Given the description of an element on the screen output the (x, y) to click on. 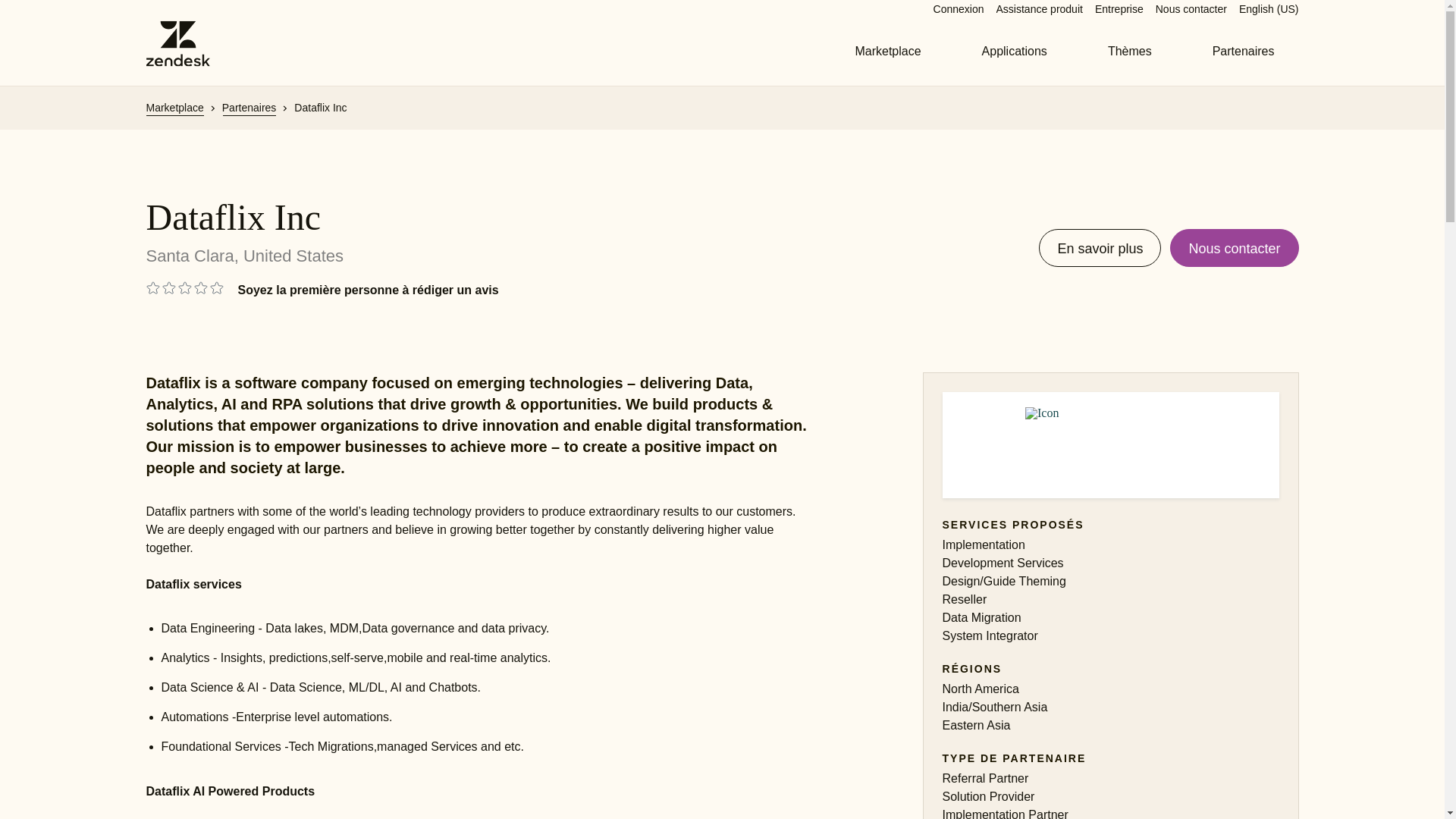
Connexion (958, 9)
Nous contacter (1191, 9)
Assistance produit (1039, 9)
